Given the description of an element on the screen output the (x, y) to click on. 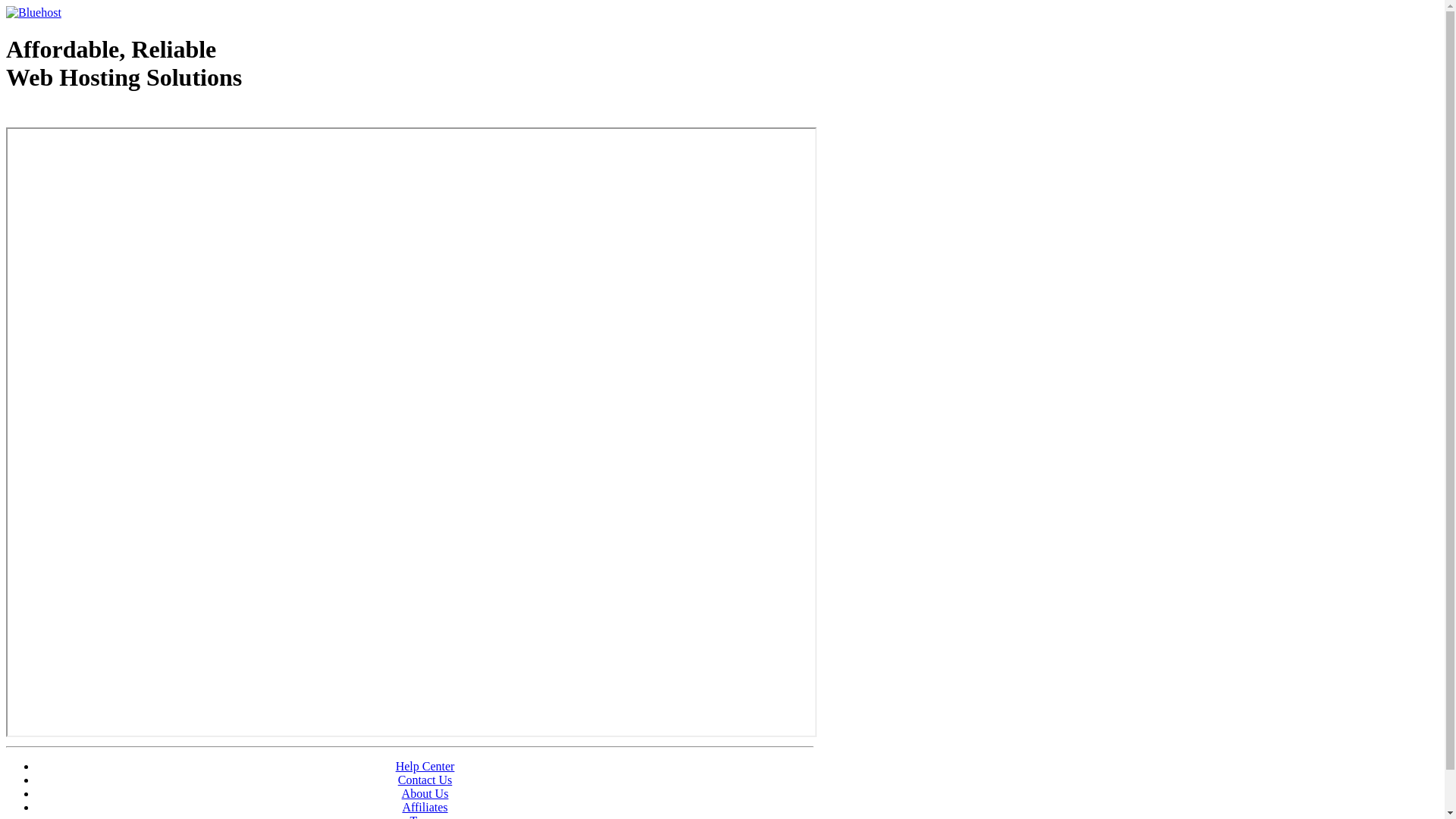
Help Center Element type: text (425, 765)
About Us Element type: text (424, 793)
Affiliates Element type: text (424, 806)
Contact Us Element type: text (425, 779)
Web Hosting - courtesy of www.bluehost.com Element type: text (94, 115)
